Given the description of an element on the screen output the (x, y) to click on. 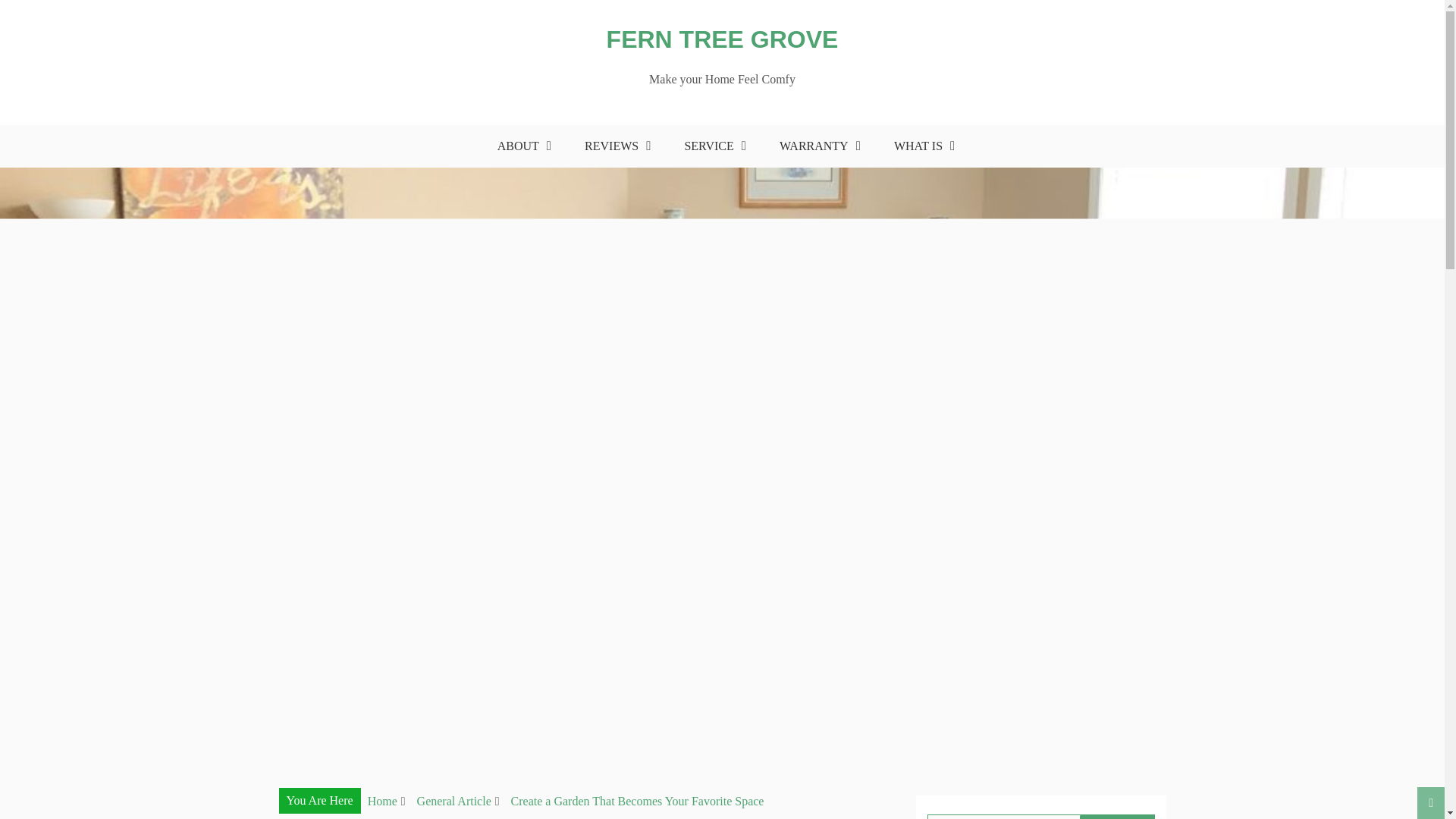
General Article (454, 800)
Create a Garden That Becomes Your Favorite Space (637, 800)
FERN TREE GROVE (722, 39)
WARRANTY (816, 146)
Home (382, 800)
Search (1117, 816)
REVIEWS (613, 146)
Search (1117, 816)
WHAT IS (920, 146)
SERVICE (710, 146)
ABOUT (520, 146)
